Given the description of an element on the screen output the (x, y) to click on. 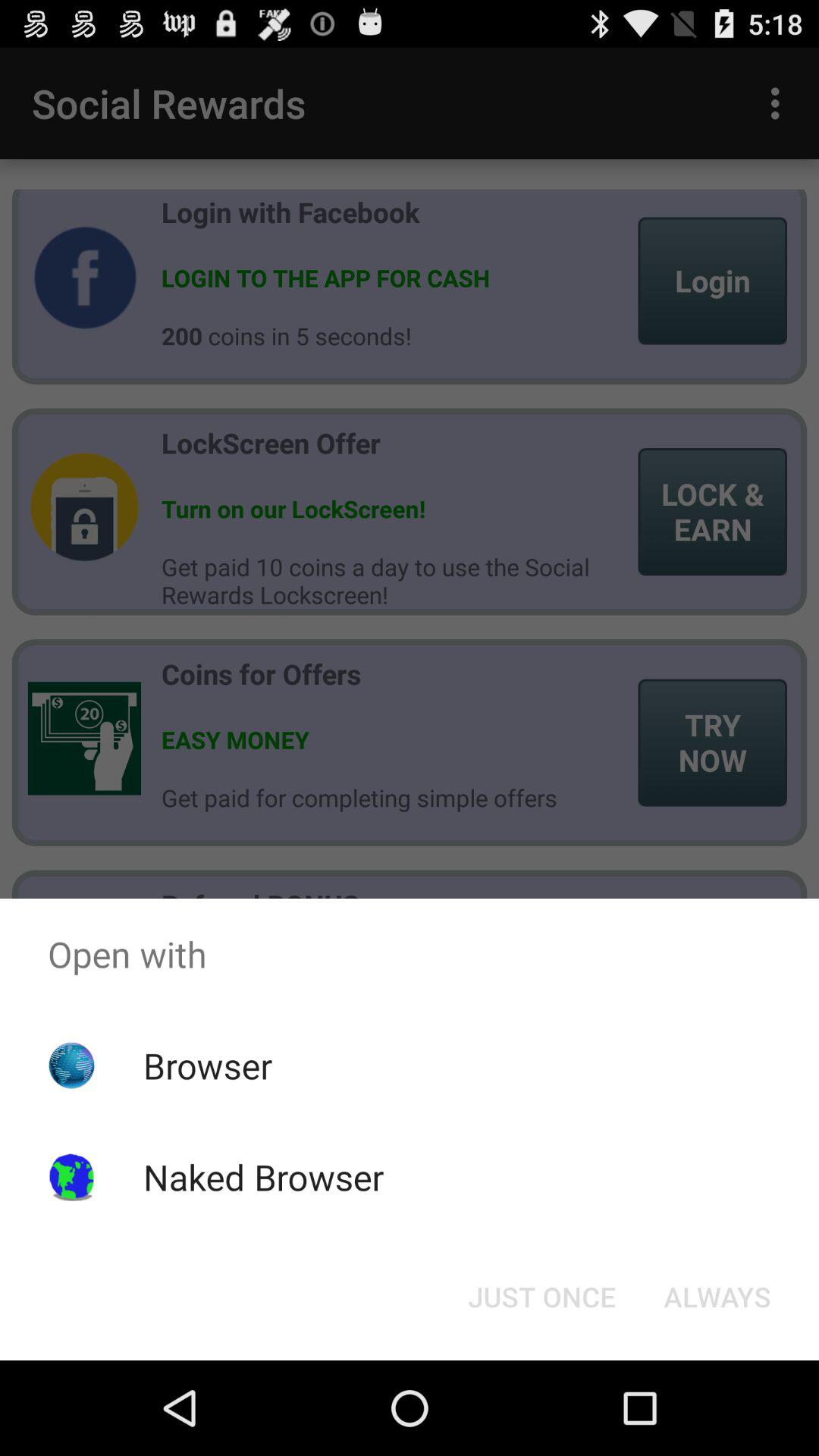
select always item (717, 1296)
